Given the description of an element on the screen output the (x, y) to click on. 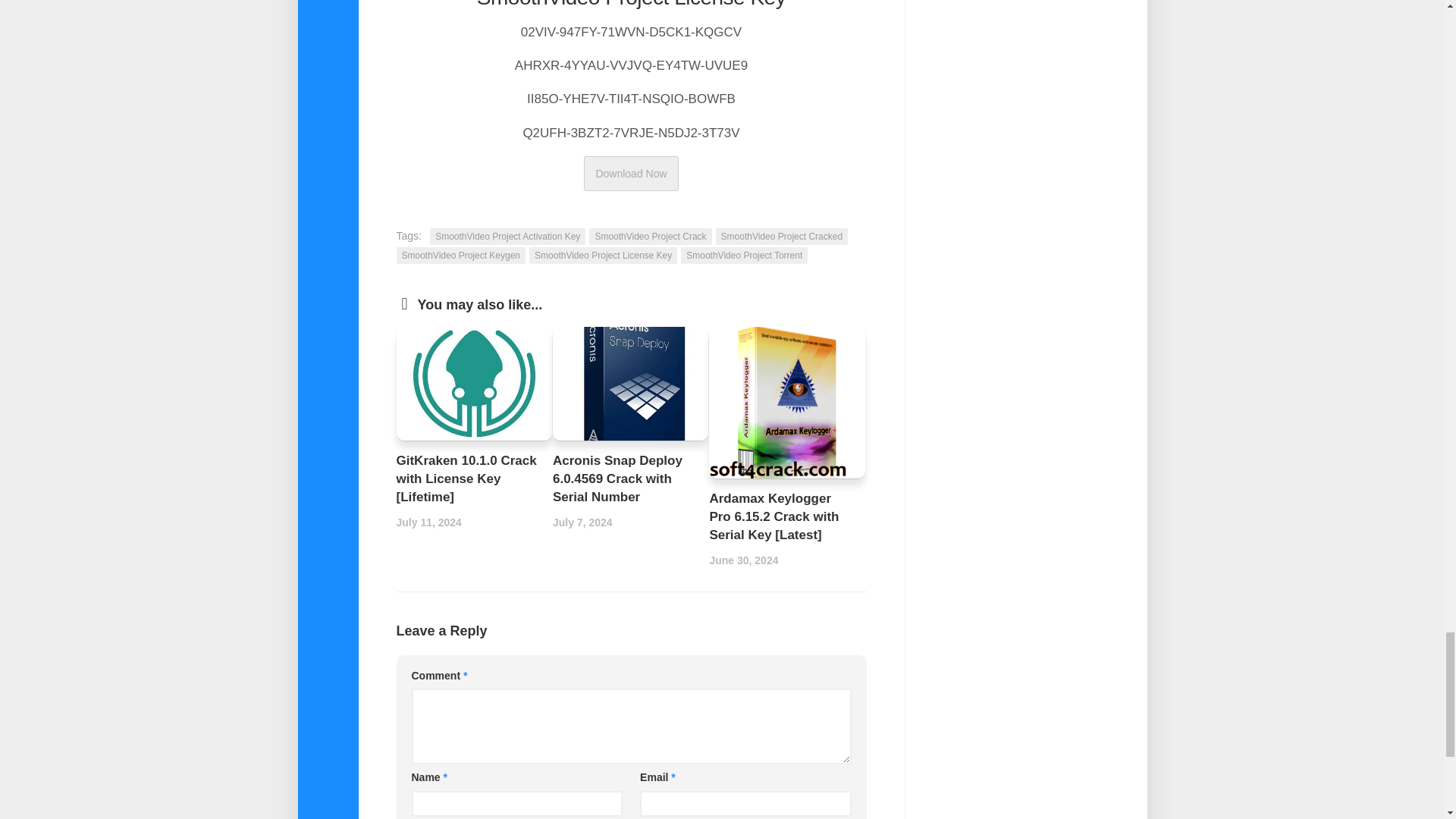
SmoothVideo Project Torrent (744, 255)
Acronis Snap Deploy 6.0.4569 Crack with Serial Number (617, 478)
SmoothVideo Project Cracked (782, 236)
SmoothVideo Project Crack (650, 236)
SmoothVideo Project License Key (603, 255)
SmoothVideo Project Activation Key (507, 236)
SmoothVideo Project Keygen (460, 255)
Download Now (630, 173)
Download Now (630, 173)
